Given the description of an element on the screen output the (x, y) to click on. 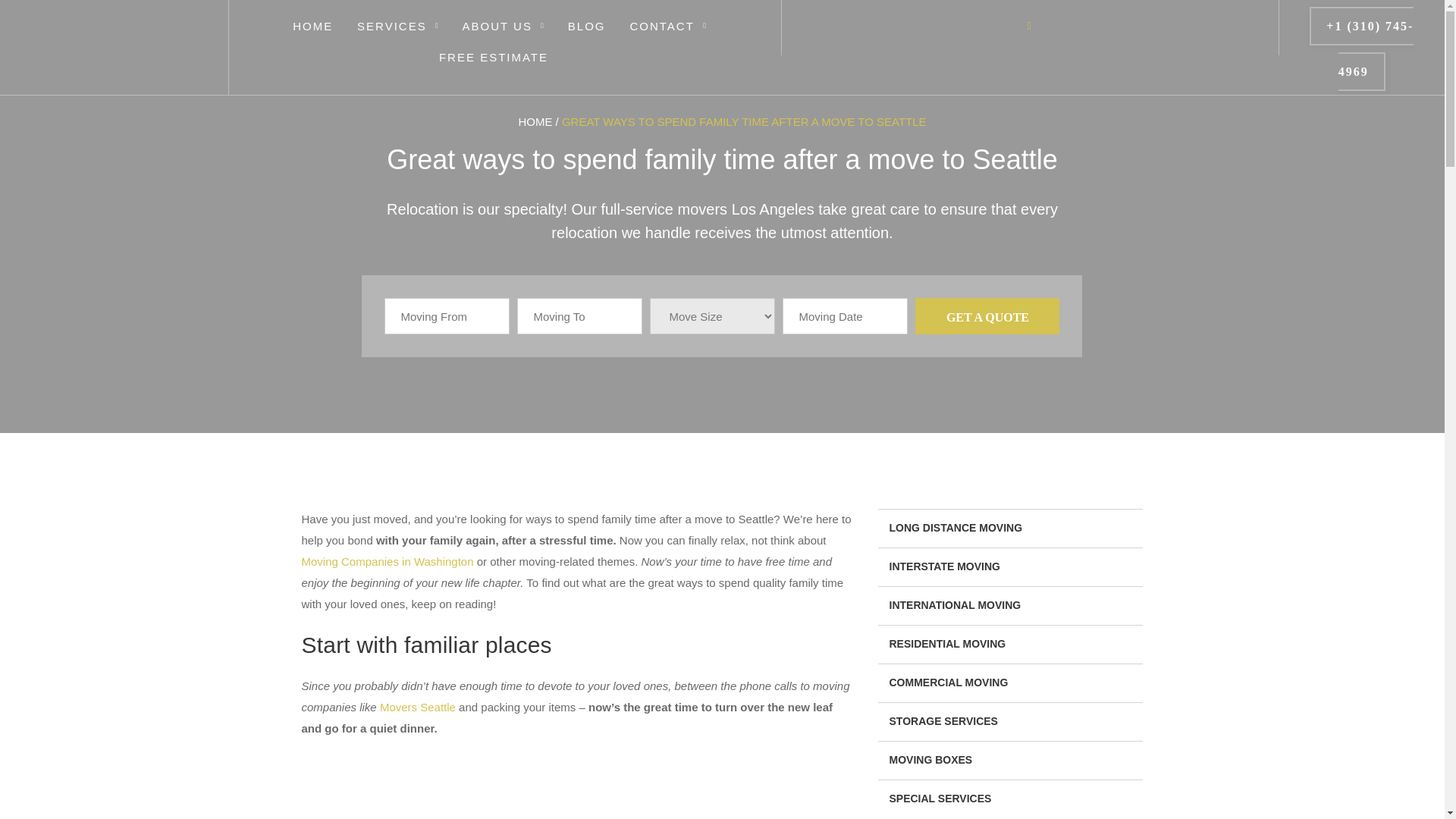
Get A Quote (987, 316)
HOME (312, 21)
ABOUT US (497, 21)
SERVICES (392, 21)
